Given the description of an element on the screen output the (x, y) to click on. 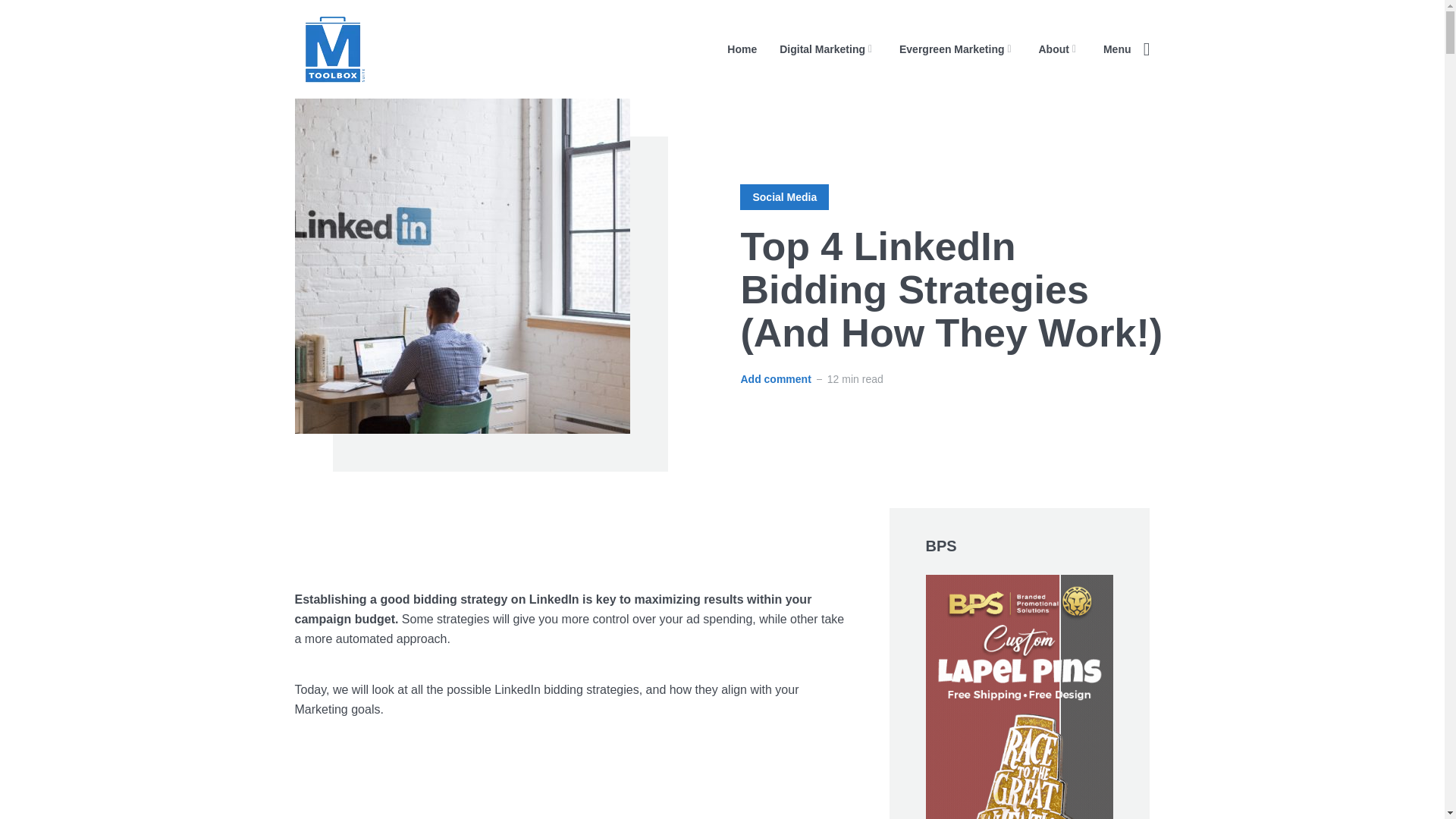
About (1059, 48)
Menu (1126, 48)
Digital Marketing (827, 48)
Add comment (774, 378)
Add comment (774, 378)
Social Media (783, 196)
Evergreen Marketing (957, 48)
